Given the description of an element on the screen output the (x, y) to click on. 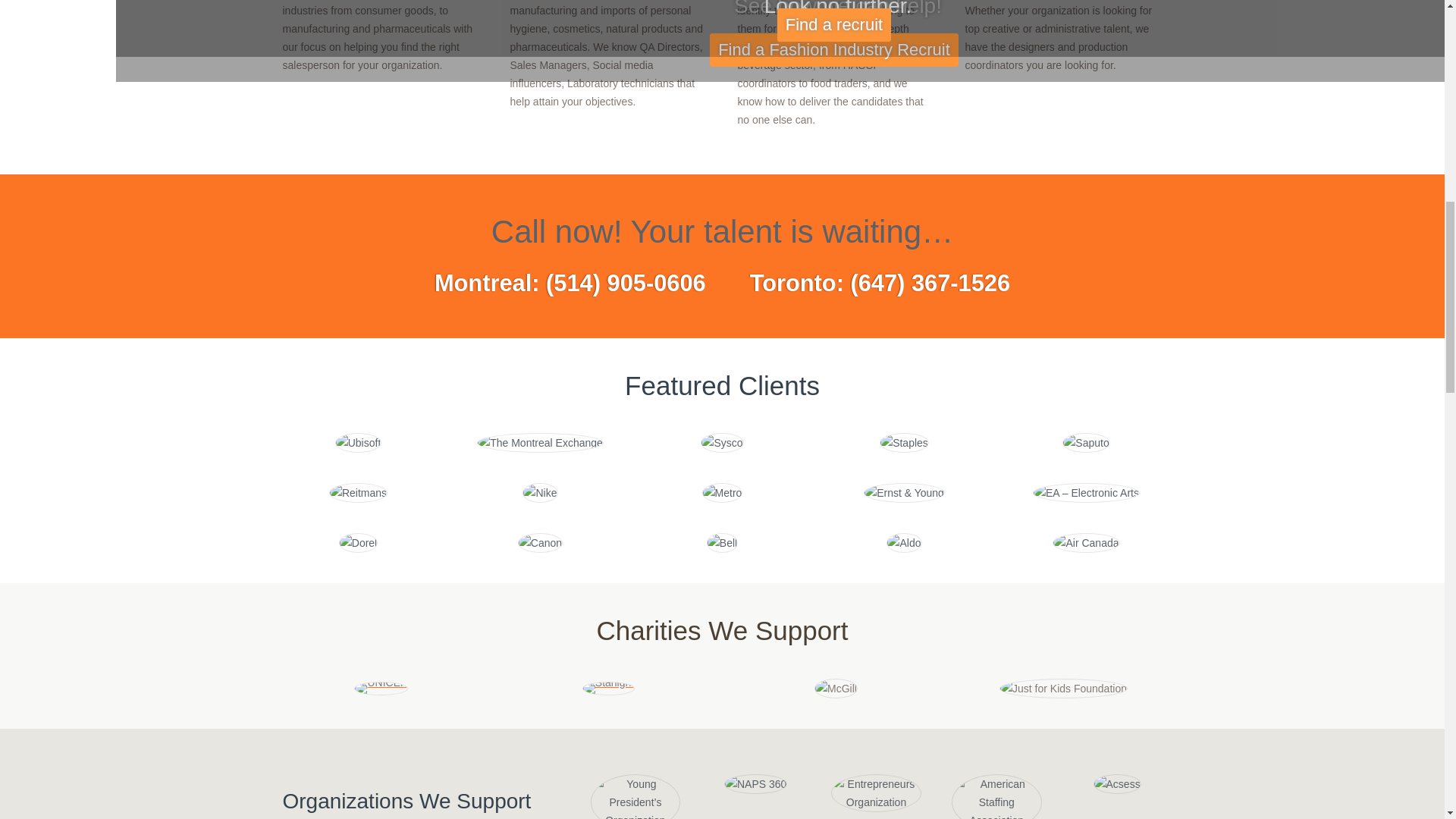
Find a Sales Recruit (834, 49)
Find a recruit (834, 24)
Find a Fashion Industry Recruit (834, 49)
Click here (834, 24)
